Given the description of an element on the screen output the (x, y) to click on. 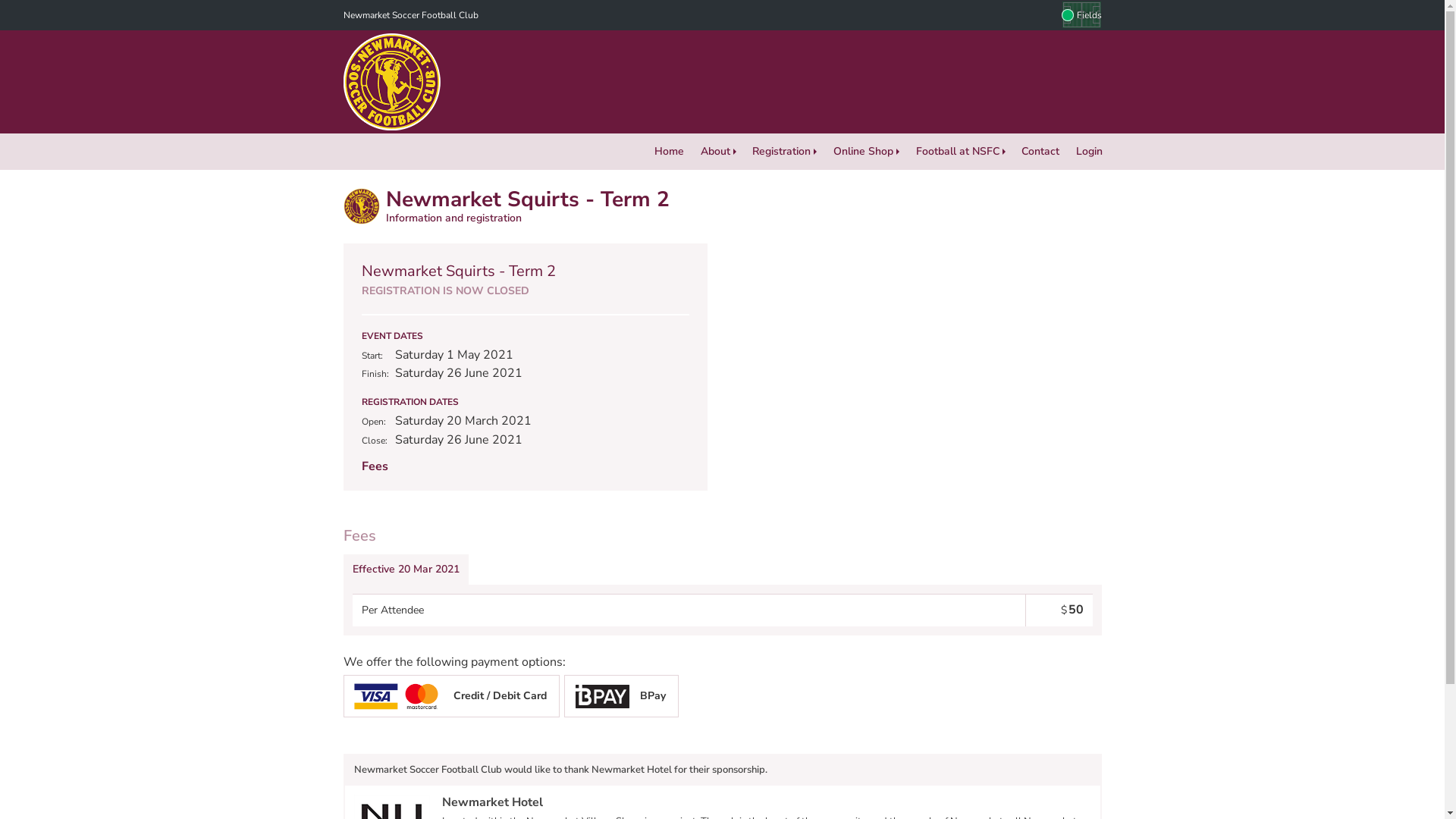
Fees Element type: text (373, 466)
Home Element type: text (669, 151)
Online Shop Element type: text (866, 151)
Fields Element type: text (1081, 15)
Contact Element type: text (1040, 151)
About Element type: text (718, 151)
Football at NSFC Element type: text (960, 151)
Login Element type: text (1088, 151)
Registration Element type: text (784, 151)
Effective 20 Mar 2021 Element type: text (404, 569)
Newmarket Soccer Football Club Element type: text (409, 15)
